Given the description of an element on the screen output the (x, y) to click on. 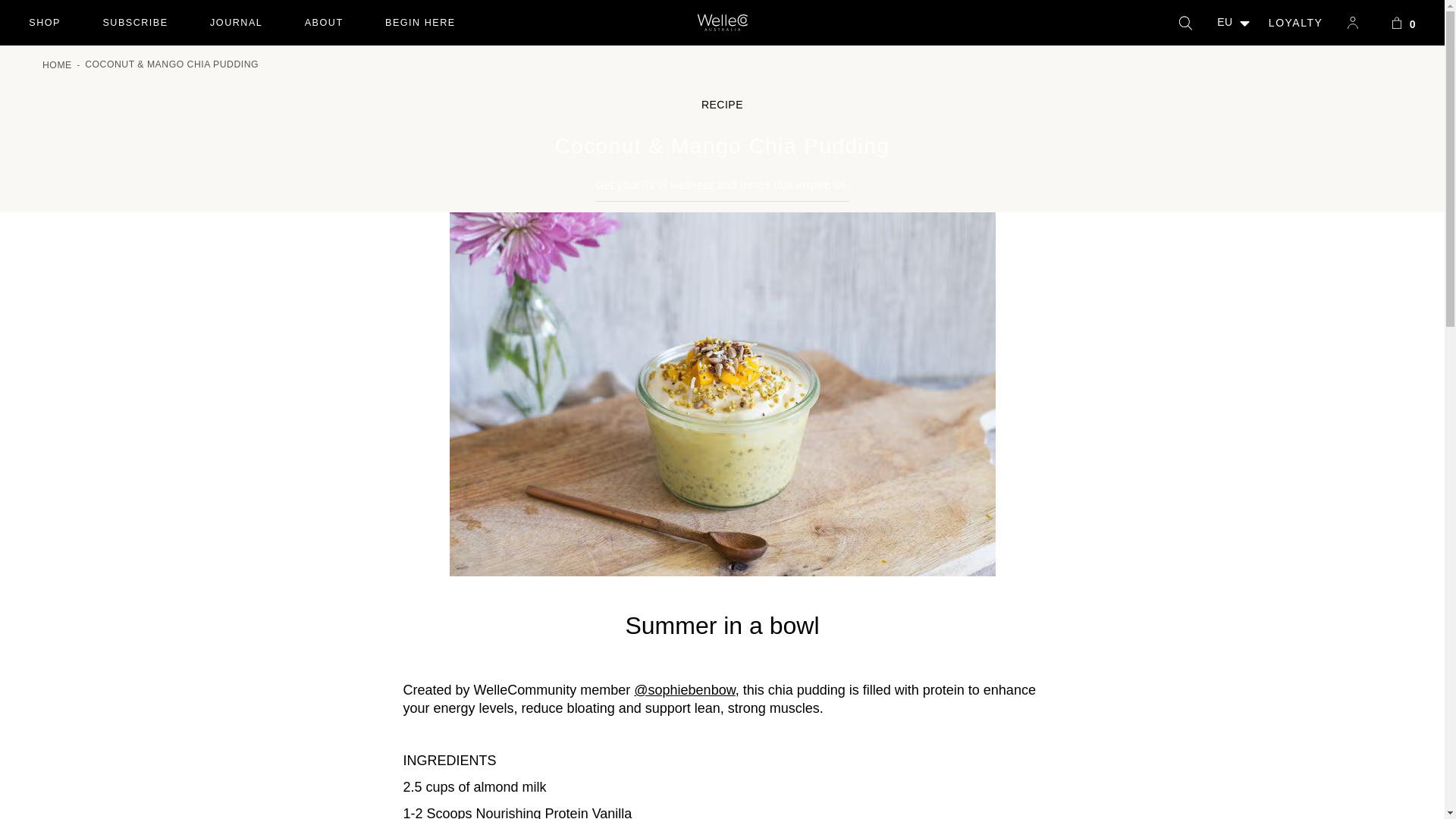
BEGIN HERE (323, 22)
SUBSCRIBE (419, 22)
WelleCo EU (235, 22)
EU (44, 22)
HOME (135, 22)
LOYALTY (722, 22)
